Given the description of an element on the screen output the (x, y) to click on. 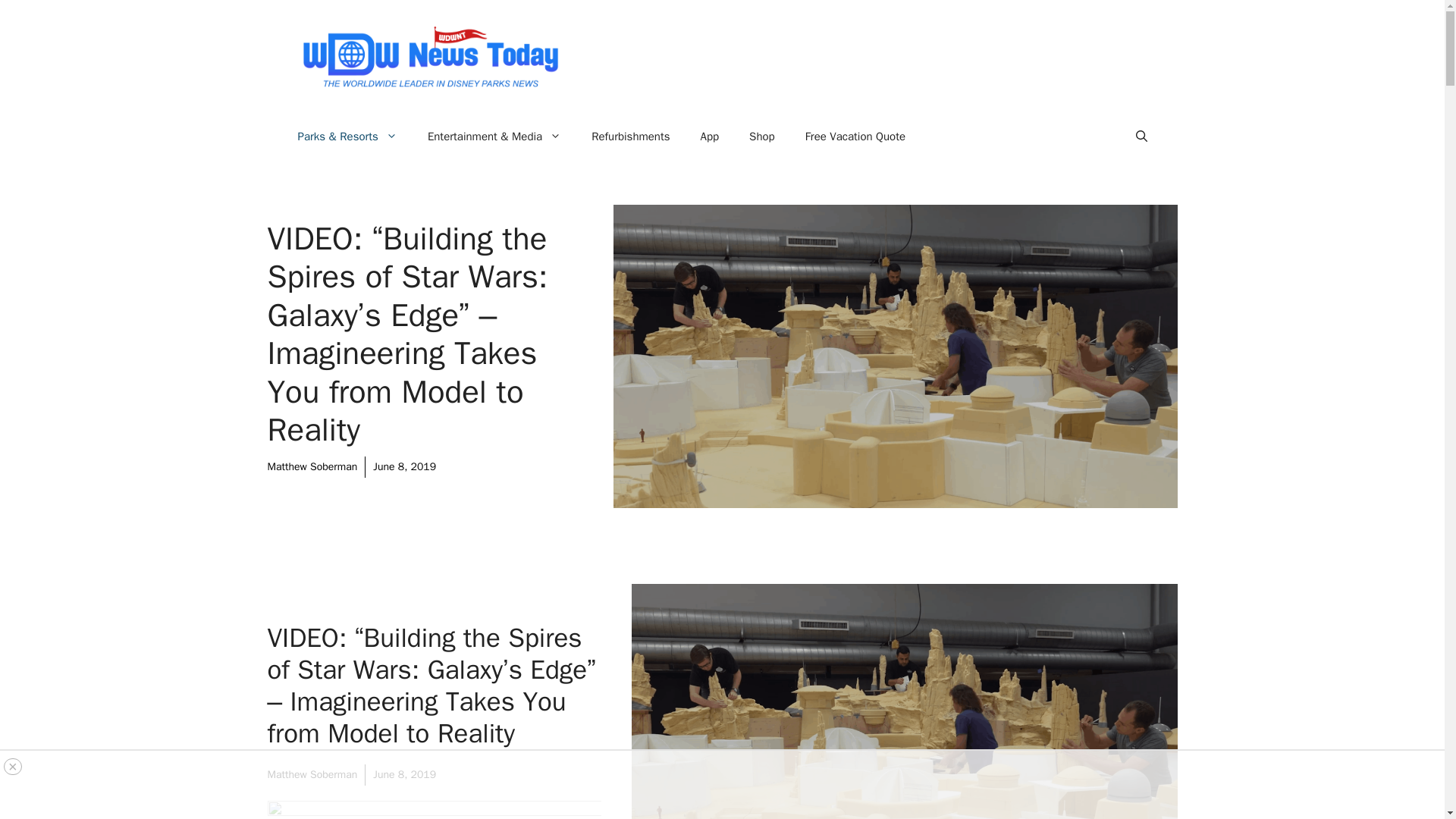
Shop (761, 135)
App (710, 135)
Free Vacation Quote (855, 135)
Refurbishments (630, 135)
